Given the description of an element on the screen output the (x, y) to click on. 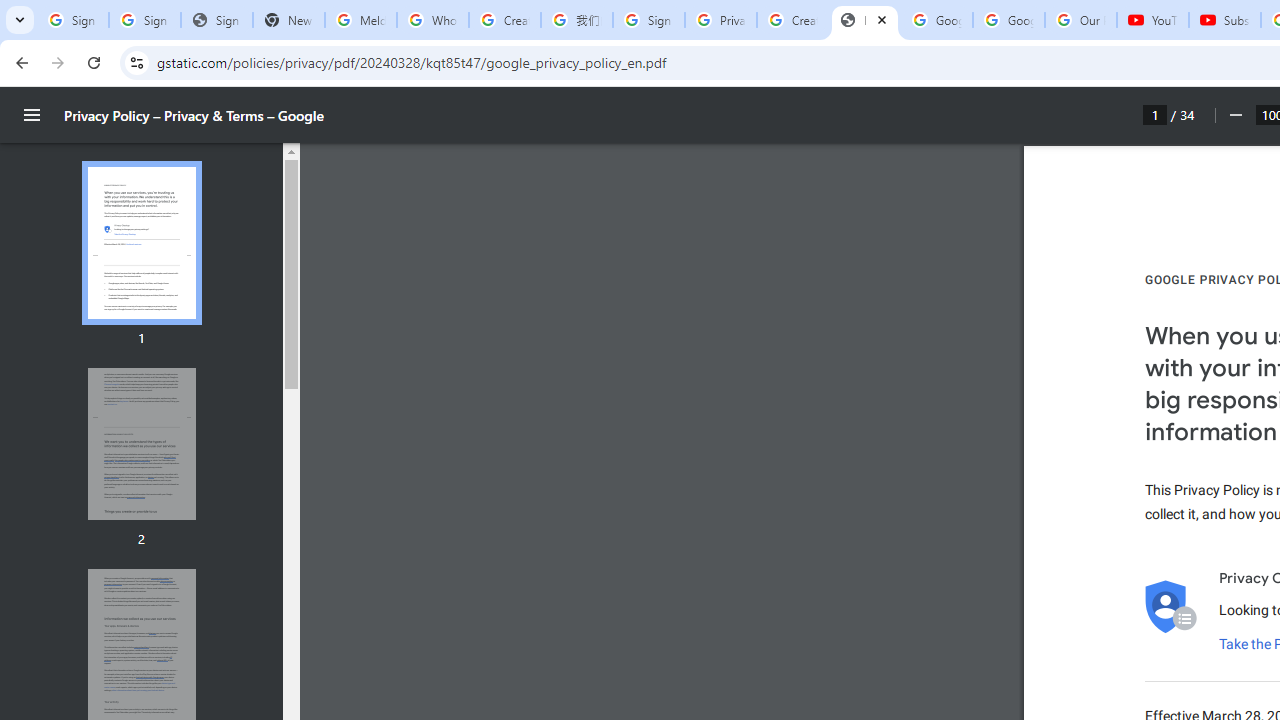
Thumbnail for page 1 (141, 243)
Who is my administrator? - Google Account Help (432, 20)
Sign in - Google Accounts (648, 20)
Menu (31, 115)
YouTube (1153, 20)
Thumbnail for page 2 (141, 444)
